Given the description of an element on the screen output the (x, y) to click on. 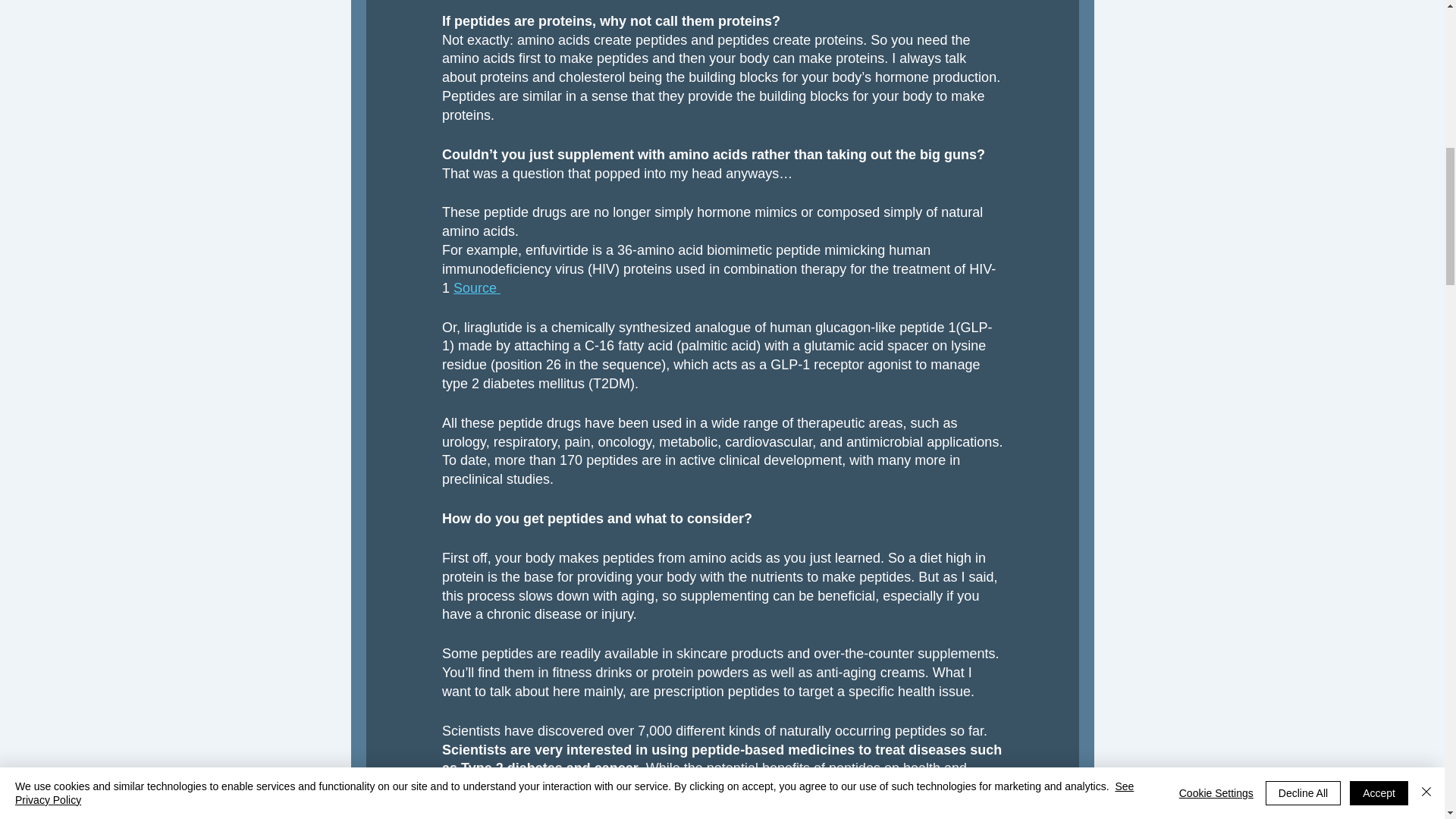
Source  (476, 287)
